Given the description of an element on the screen output the (x, y) to click on. 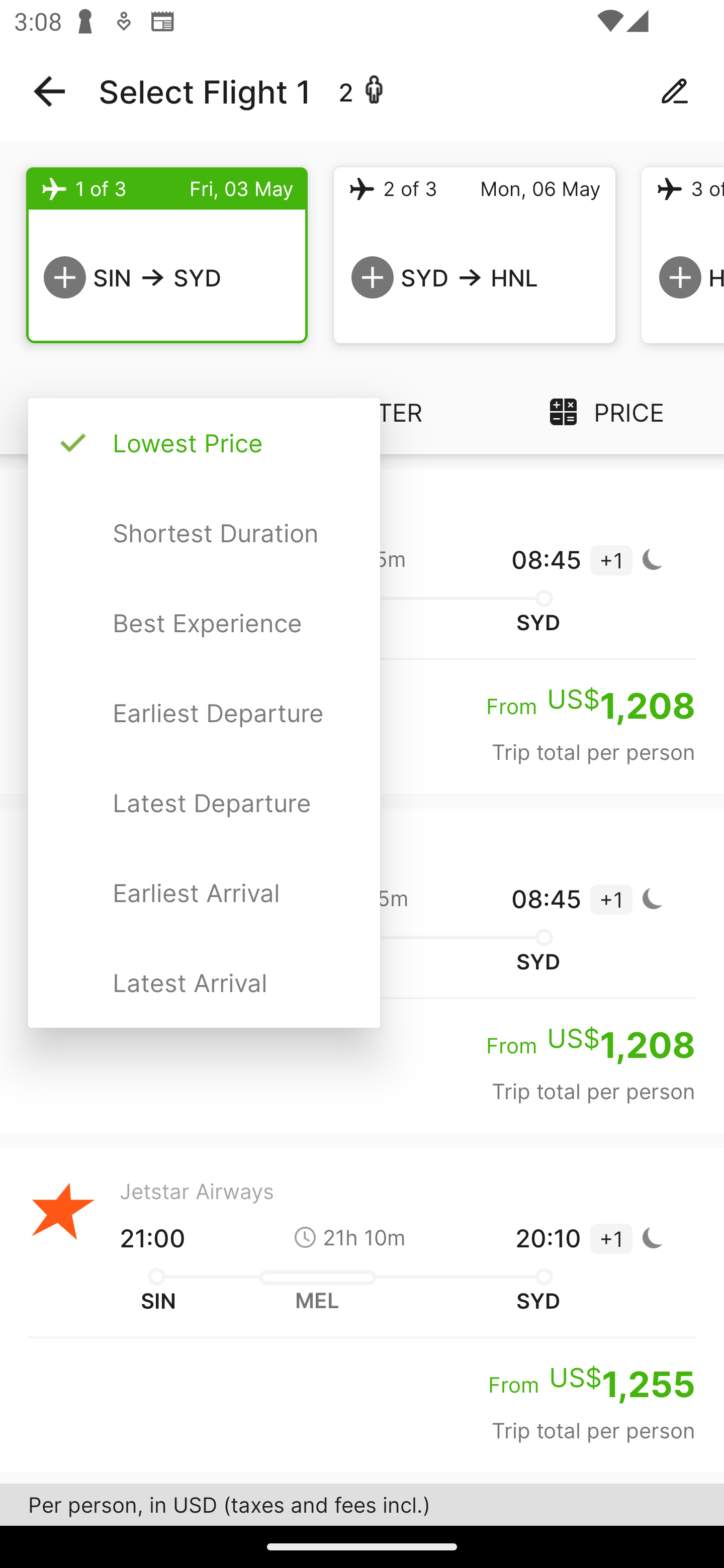
Lowest Price (204, 442)
Shortest Duration (204, 532)
Best Experience (204, 622)
Earliest Departure (204, 712)
Latest Departure (204, 802)
Earliest Arrival (204, 892)
Latest Arrival (204, 982)
